Given the description of an element on the screen output the (x, y) to click on. 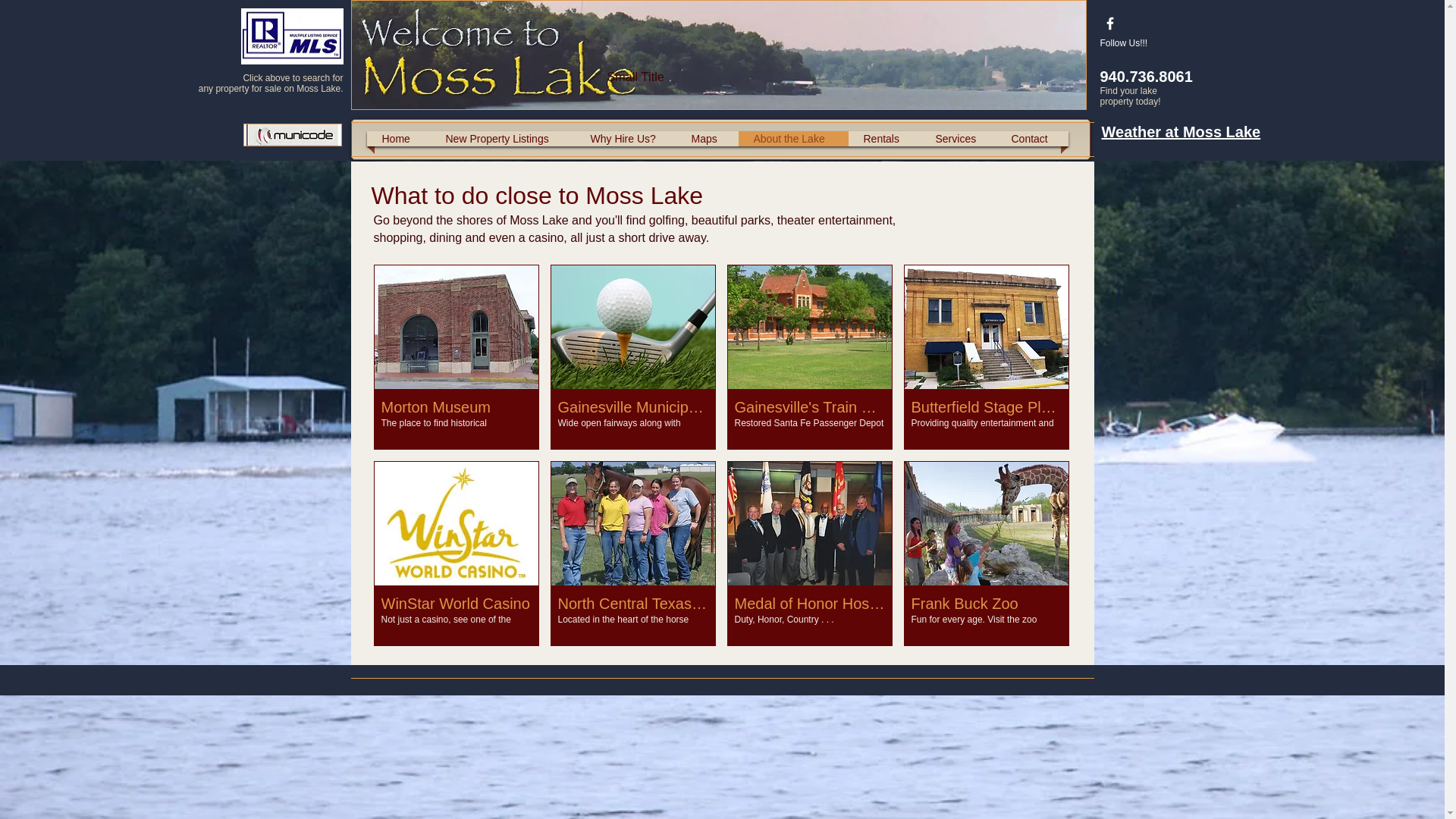
municode.jpg (291, 134)
Home (397, 138)
Rentals (808, 553)
New Property Listings (884, 138)
Moss Lake Real Estate, Lake property on Moss Lake (501, 138)
Why Hire Us? (718, 54)
Maps (625, 138)
